Given the description of an element on the screen output the (x, y) to click on. 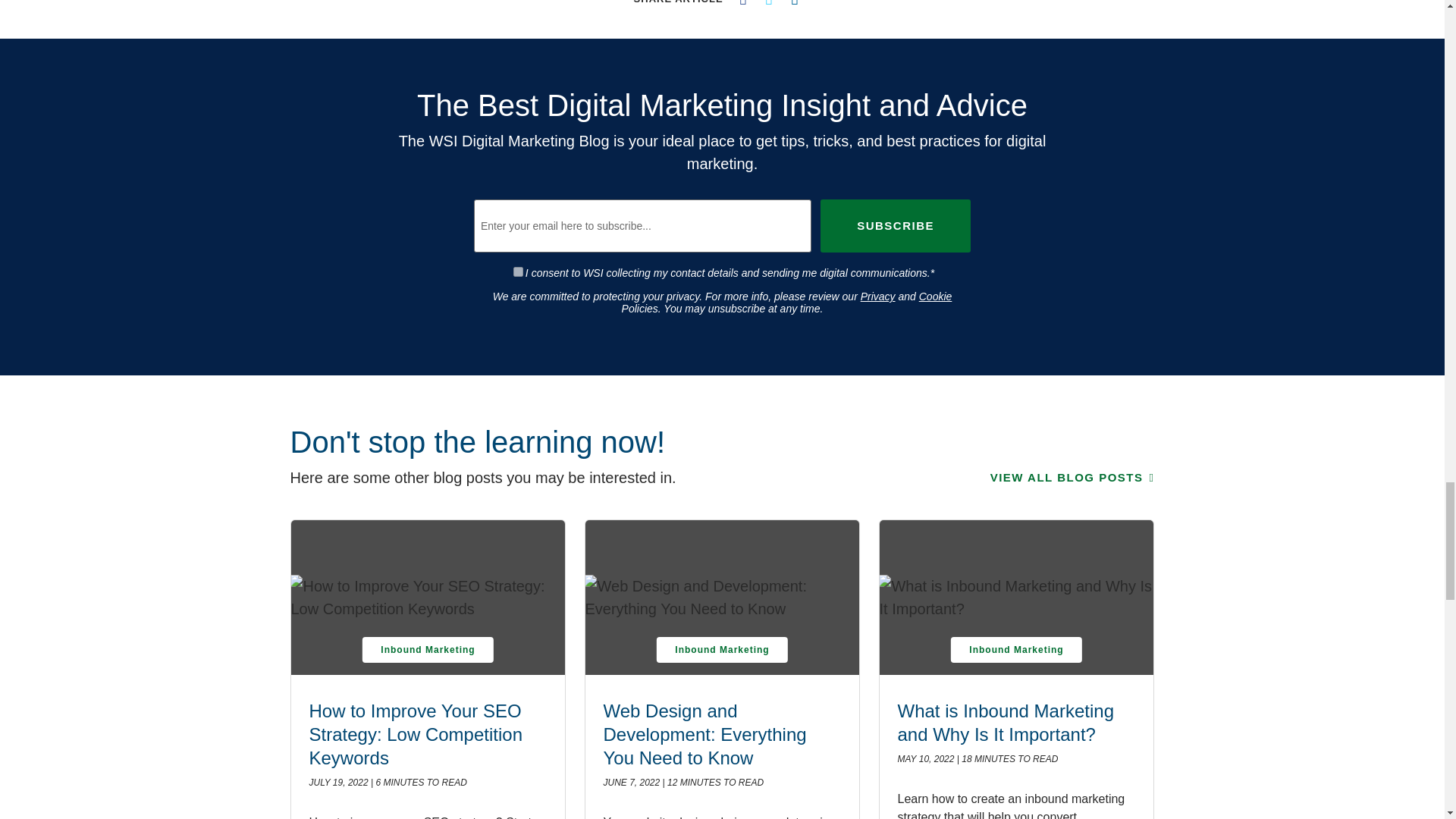
VIEW ALL BLOG POSTS (1072, 477)
Privacy (877, 296)
true (517, 271)
Cookie (935, 296)
Subscribe (896, 225)
Subscribe (896, 225)
